Given the description of an element on the screen output the (x, y) to click on. 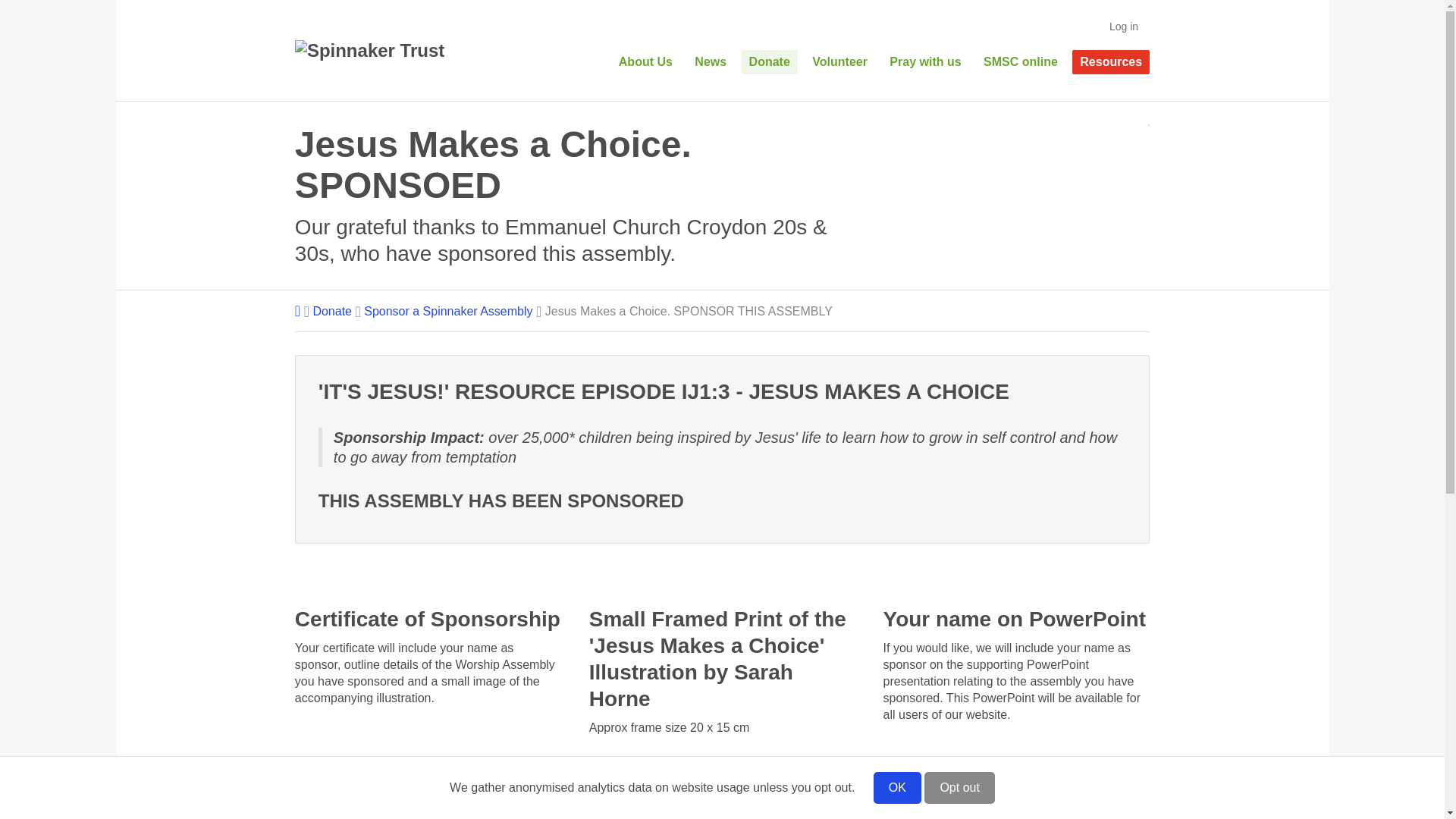
Opt out (959, 787)
Pray with us (925, 61)
Donate (769, 61)
Volunteer (840, 61)
SMSC online (1020, 61)
Sponsor a Spinnaker Assembly (448, 310)
Log in (1123, 26)
About Us (645, 61)
Resources (1110, 61)
Donate (332, 310)
OK (897, 787)
News (710, 61)
